Given the description of an element on the screen output the (x, y) to click on. 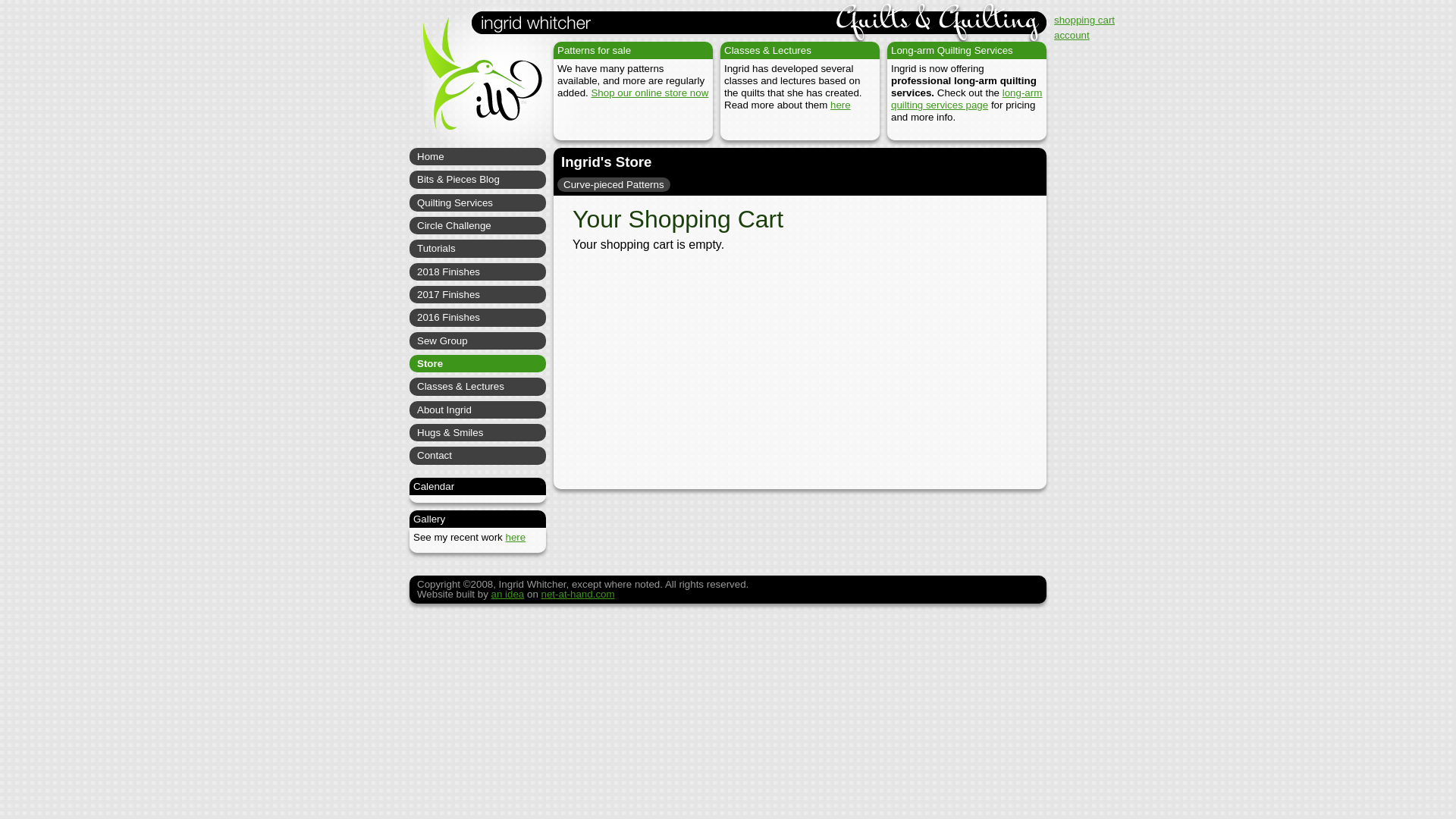
About Ingrid (477, 409)
Sew Group (477, 340)
Home (477, 156)
Shop our online store now (649, 92)
here (515, 536)
2016 Finishes (477, 316)
Tutorials (477, 248)
an idea (508, 593)
2017 Finishes (477, 294)
Curve-pieced Patterns (613, 184)
Ingrid Whitcher (475, 82)
2018 Finishes (477, 271)
Quilting Services (477, 202)
net-at-hand.com (577, 593)
Circle Challenge (477, 225)
